Given the description of an element on the screen output the (x, y) to click on. 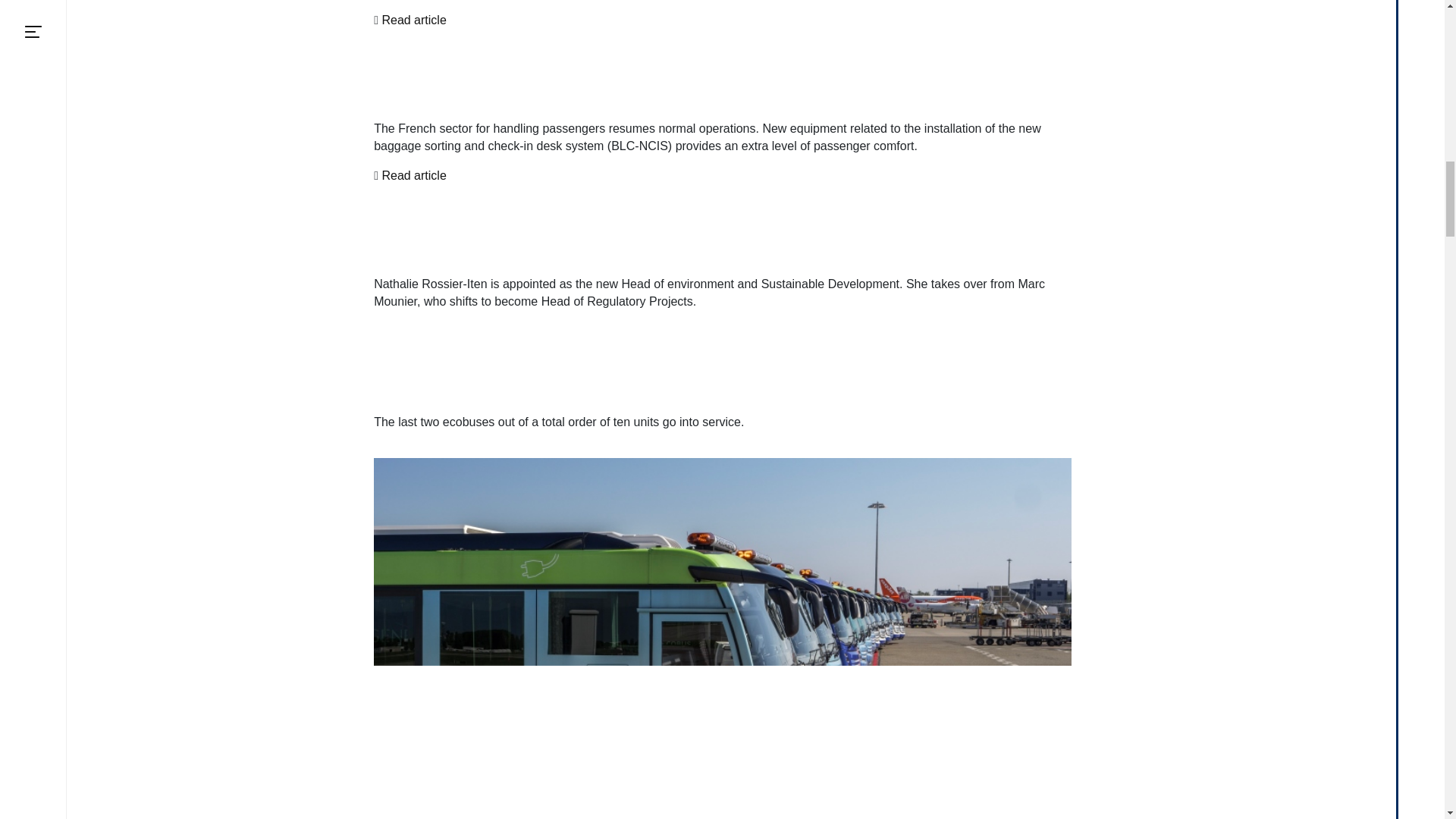
Read article (413, 19)
Read article (413, 175)
